Given the description of an element on the screen output the (x, y) to click on. 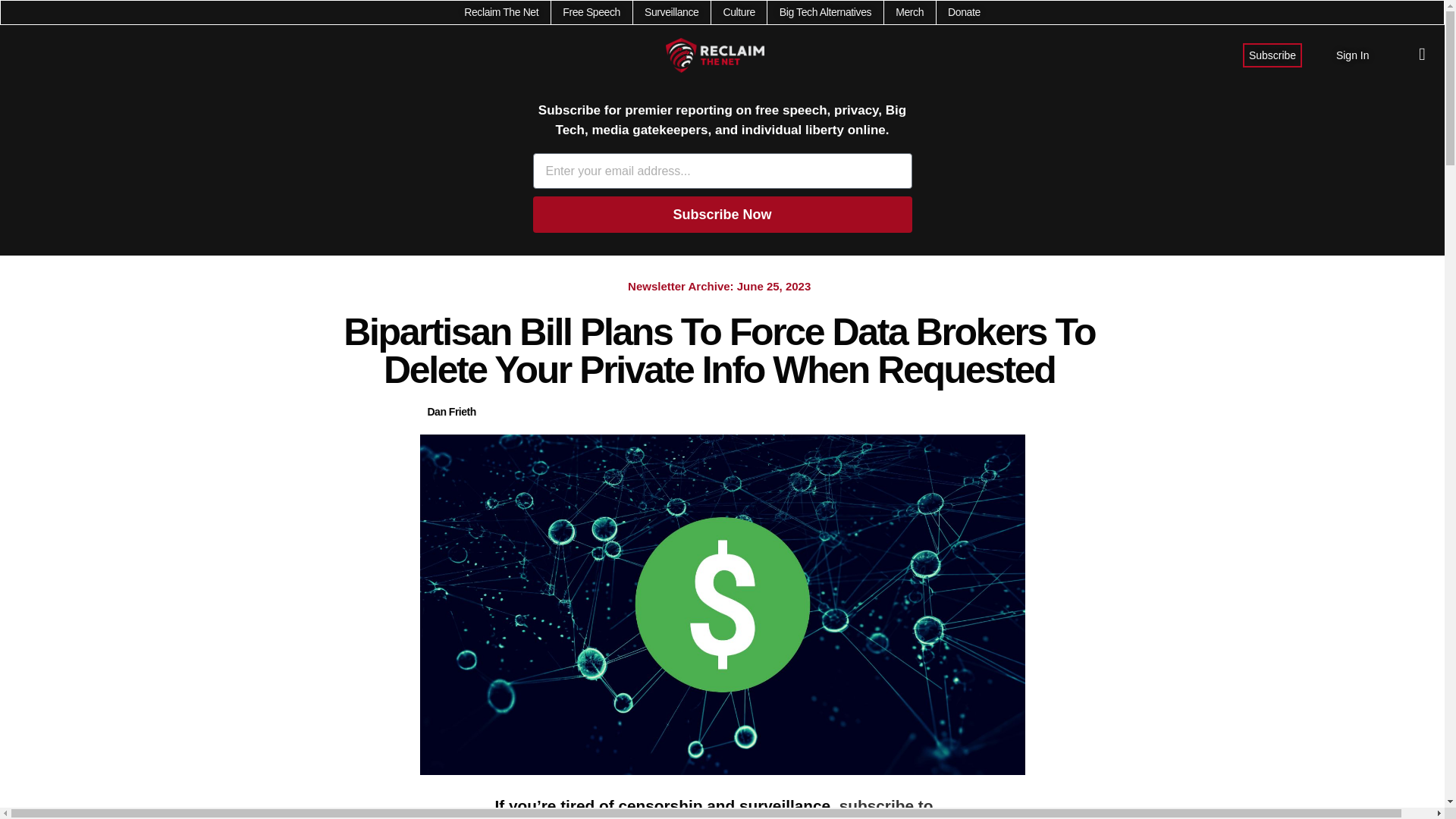
Free Speech (591, 12)
Surveillance (671, 12)
Big Tech Alternatives (824, 12)
Reclaim The Net (501, 12)
Subscribe (1272, 55)
Culture (738, 12)
Dan Frieth (452, 412)
Subscribe Now (721, 214)
Sign In (1353, 55)
subscribe to Reclaim The Net. (714, 807)
Donate (963, 12)
Merch (909, 12)
